Given the description of an element on the screen output the (x, y) to click on. 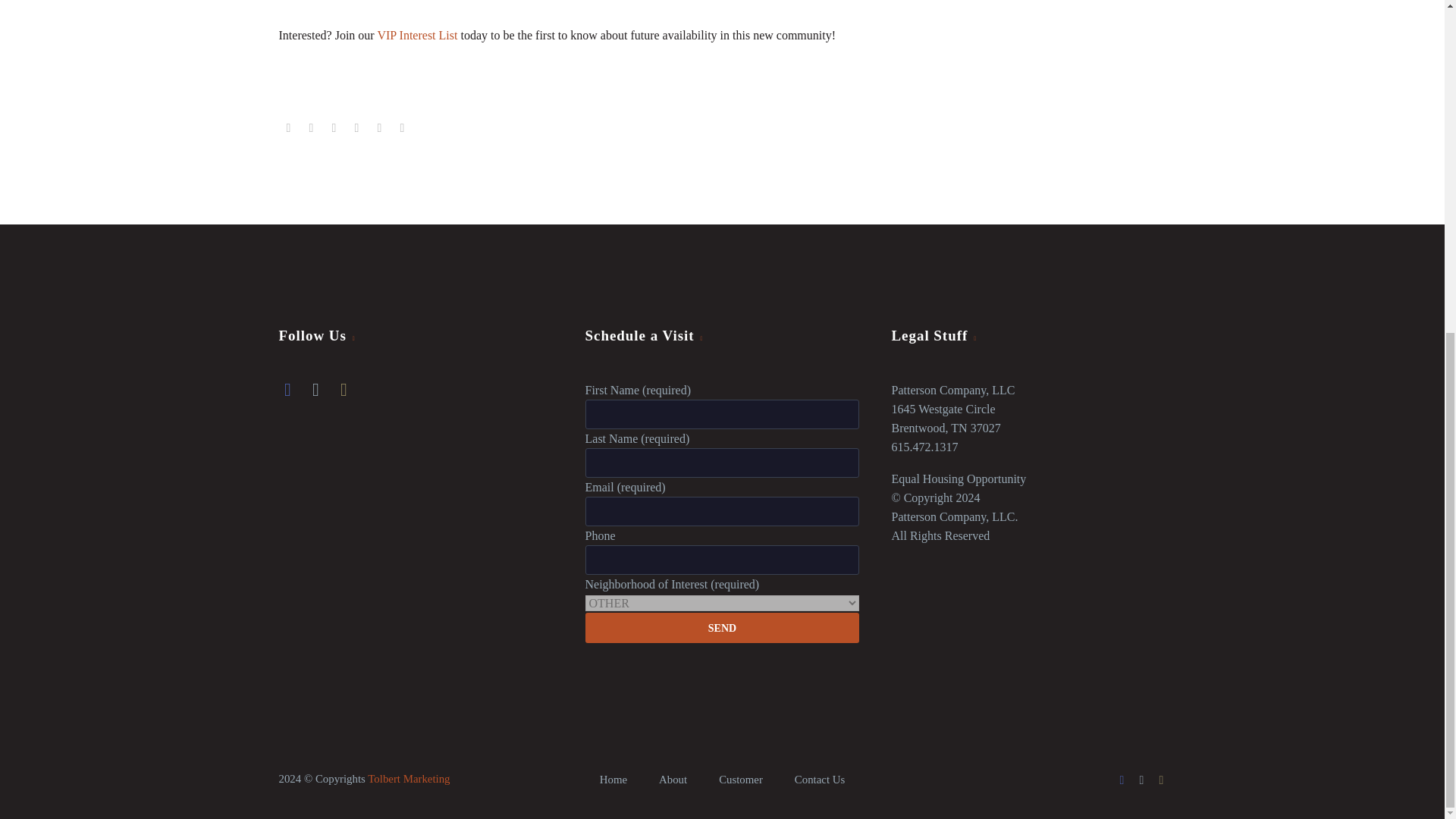
Reddit (401, 128)
LinkedIn (378, 128)
VIP Interest List (417, 34)
Twitter (1141, 779)
Pinterest (333, 128)
Facebook (288, 128)
Tumblr (356, 128)
Send (722, 627)
Facebook (1122, 779)
Twitter (310, 128)
